Given the description of an element on the screen output the (x, y) to click on. 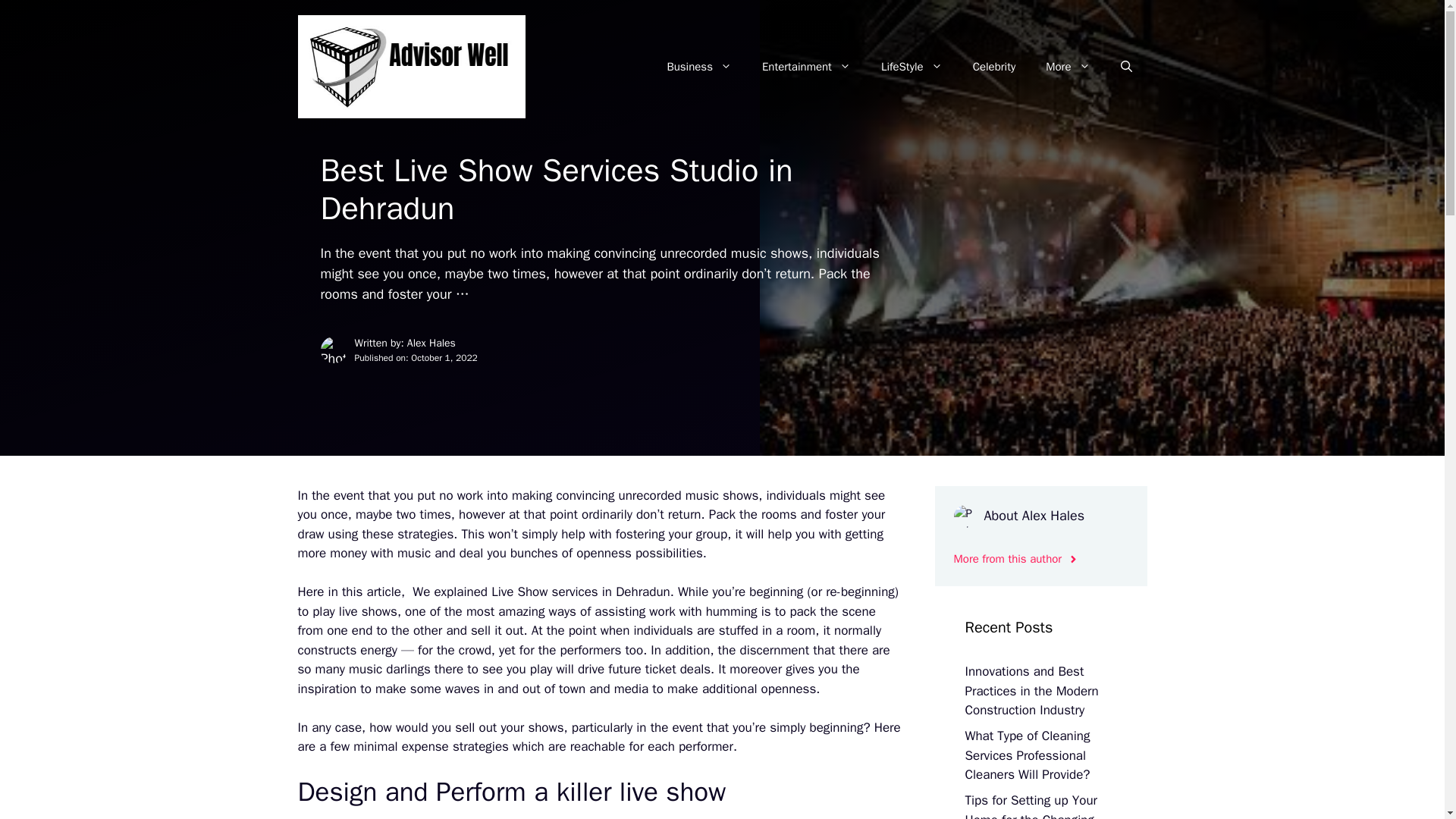
Tips for Setting up Your Home for the Changing Seasons (1030, 805)
More from this author (1015, 559)
More (1067, 66)
Business (698, 66)
LifeStyle (912, 66)
Live Show services (545, 591)
Celebrity (994, 66)
Entertainment (806, 66)
